Given the description of an element on the screen output the (x, y) to click on. 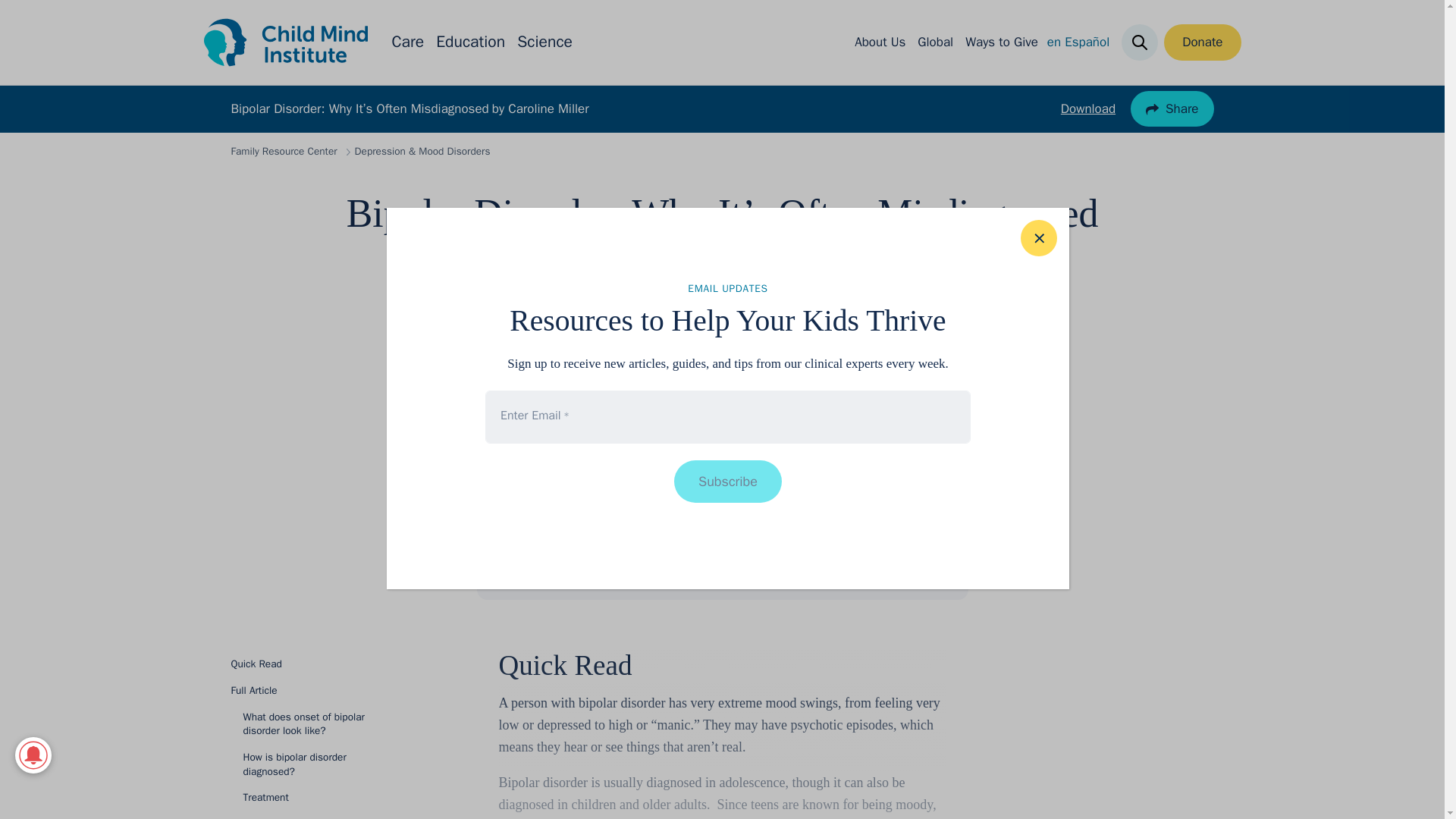
Education (470, 42)
Subscribe (727, 481)
Care (407, 42)
